Given the description of an element on the screen output the (x, y) to click on. 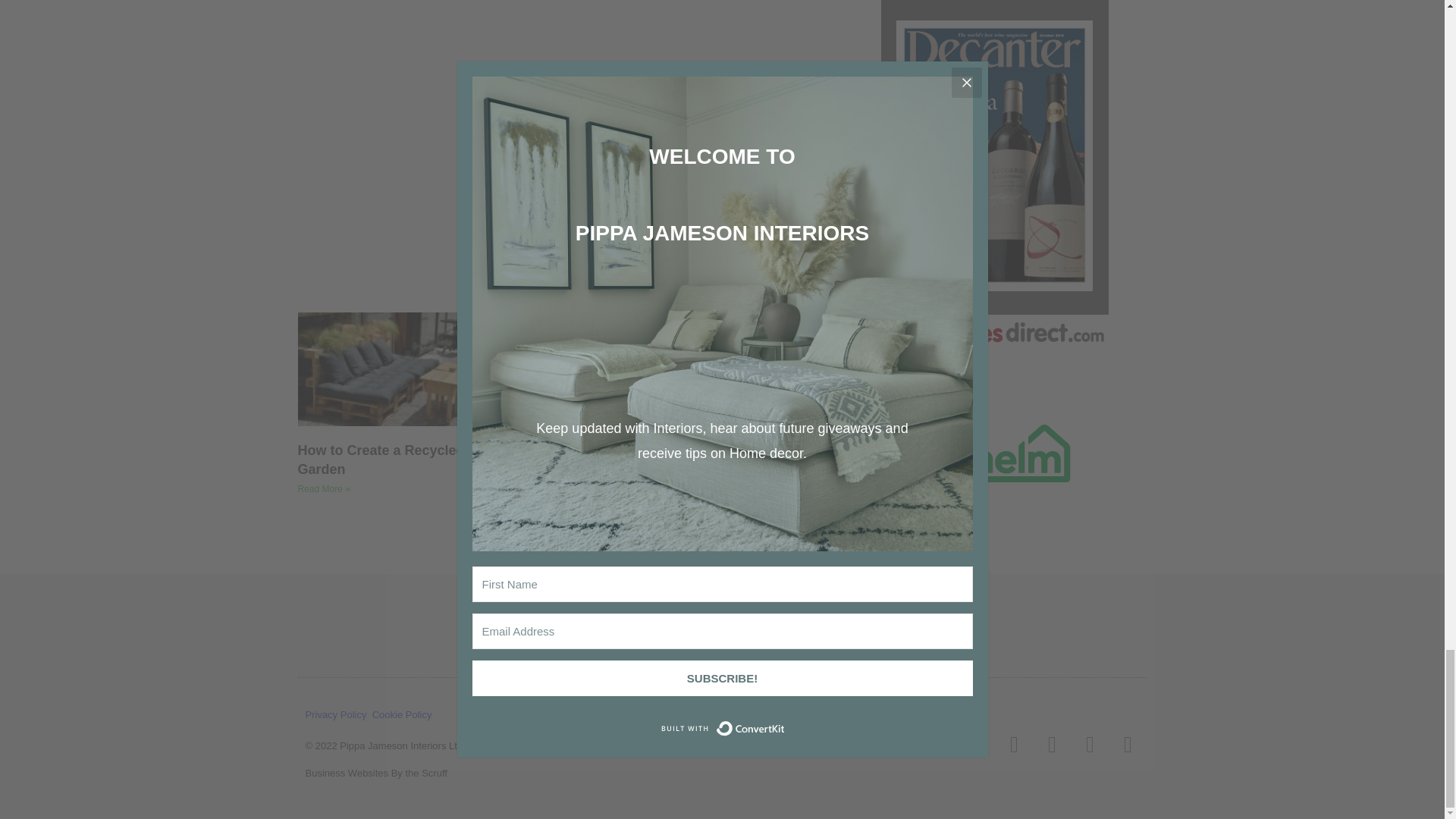
How to Create a Recycled Garden (380, 459)
Rethink rubbish, Gift wrapping kit (577, 117)
